Given the description of an element on the screen output the (x, y) to click on. 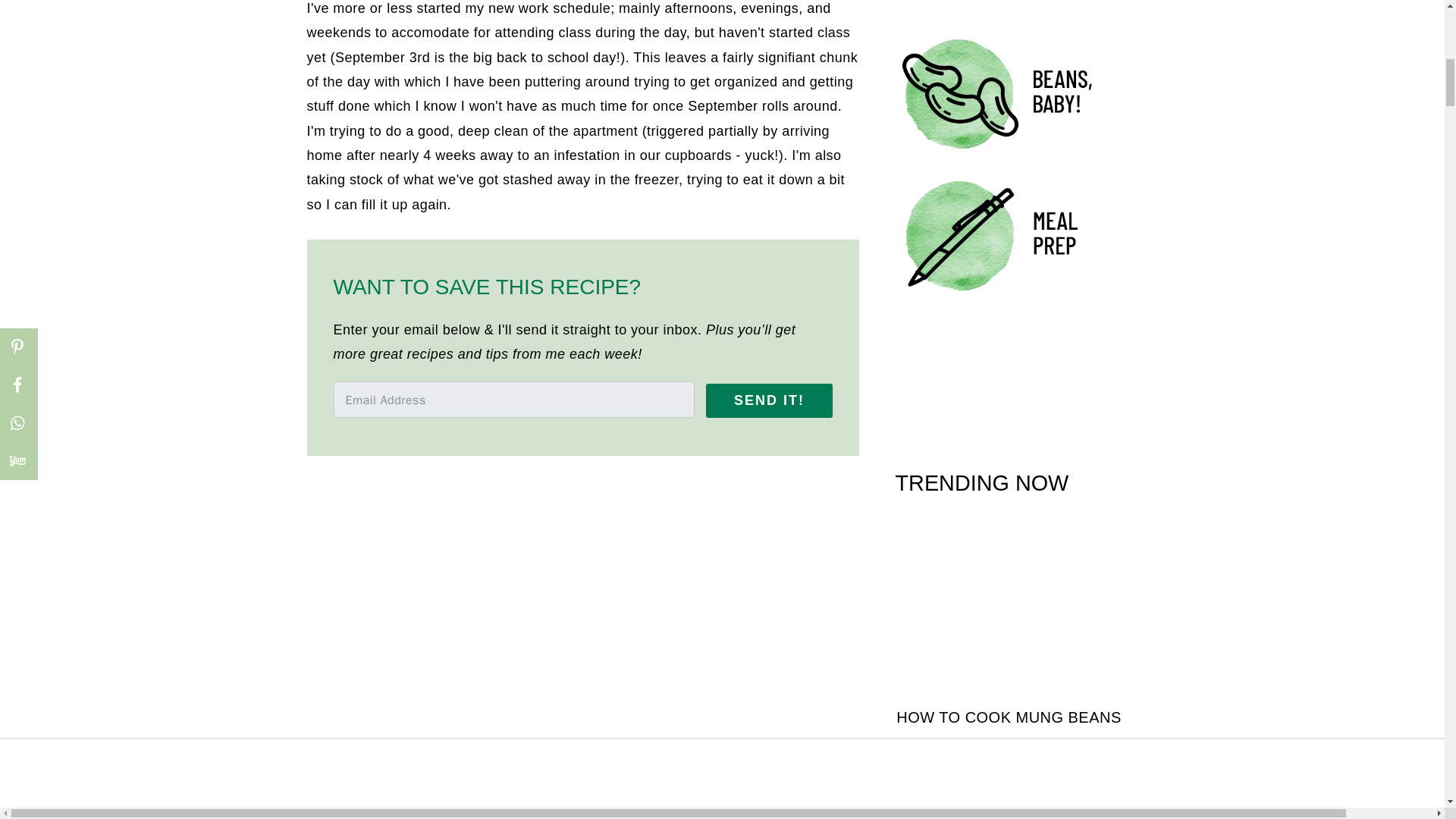
SEND IT! (768, 400)
